Given the description of an element on the screen output the (x, y) to click on. 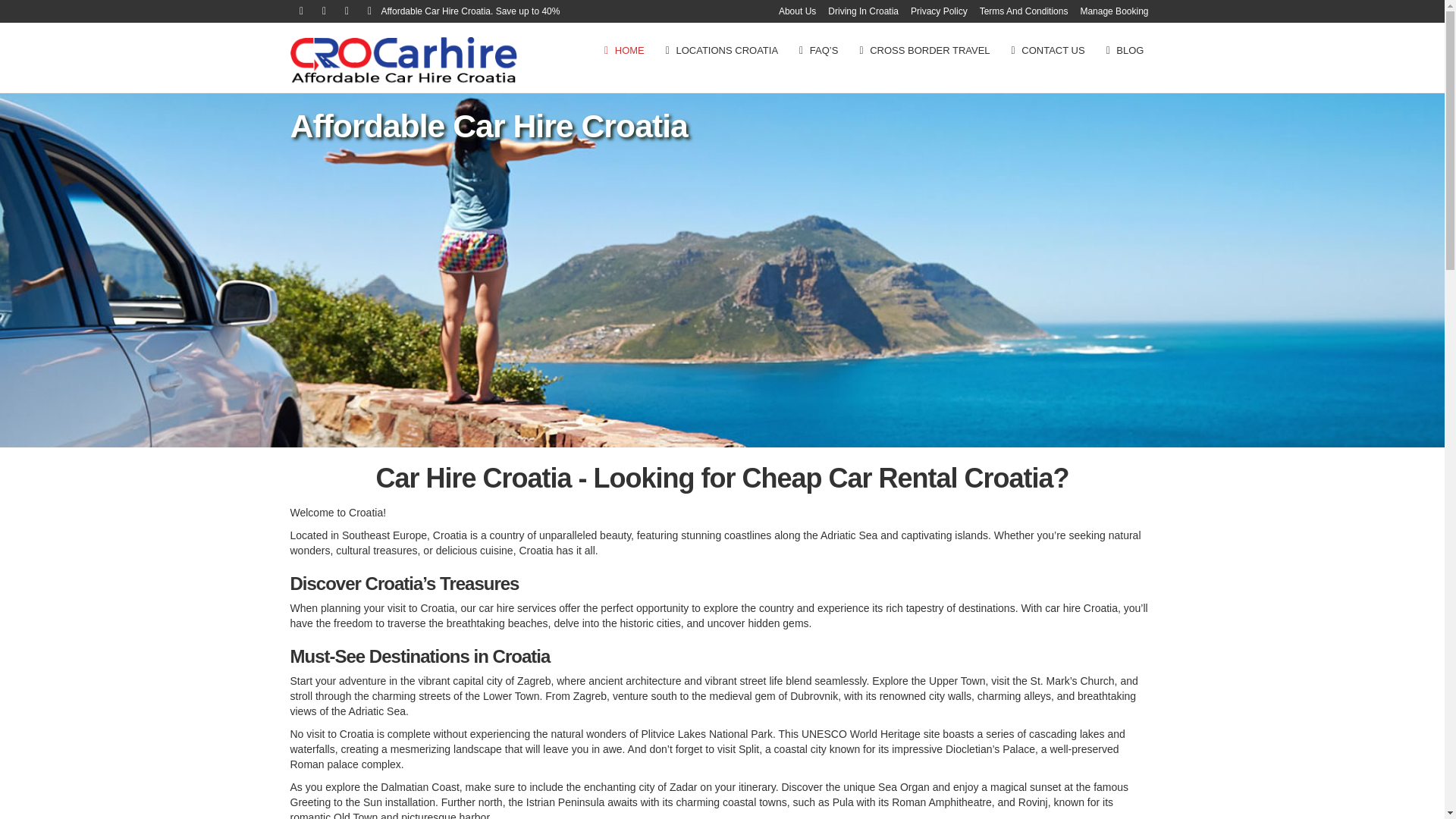
LOCATIONS CROATIA (722, 50)
Zadar (683, 787)
Car Rental Locations Croatia (722, 50)
BLOG (1125, 50)
Pula (842, 802)
Dubrovnik (814, 695)
Privacy Policy (939, 11)
HOME (624, 50)
Rovinj (1032, 802)
Cross Border Travel (924, 50)
